Given the description of an element on the screen output the (x, y) to click on. 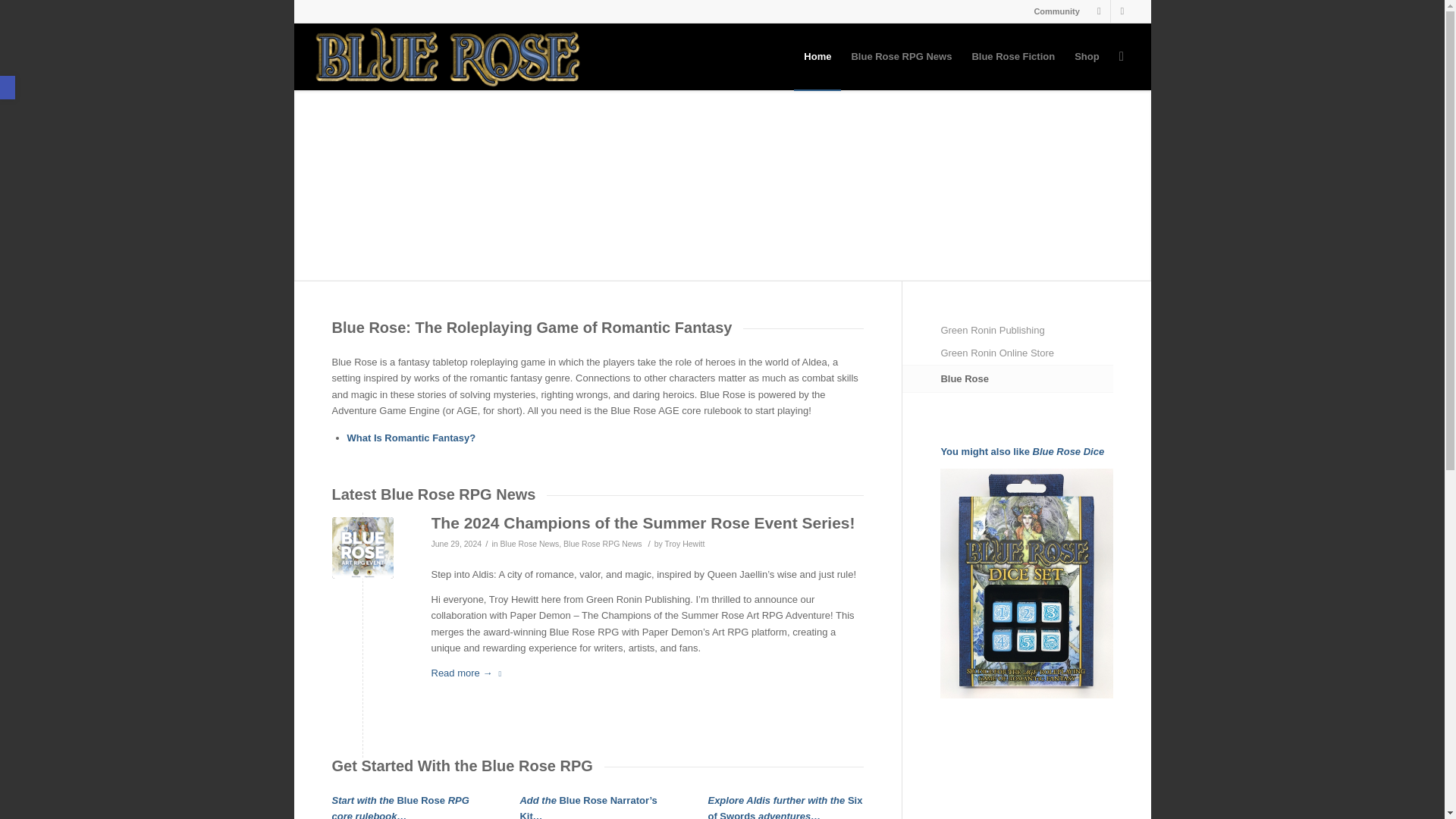
Blue Rose News (529, 542)
The 2024 Champions of the Summer Rose Event Series! (362, 547)
What Is Romantic Fantasy? (411, 437)
BlueRoseRPG.com (817, 56)
Troy Hewitt (684, 542)
Posts by Troy Hewitt (684, 542)
Home (817, 56)
